Given the description of an element on the screen output the (x, y) to click on. 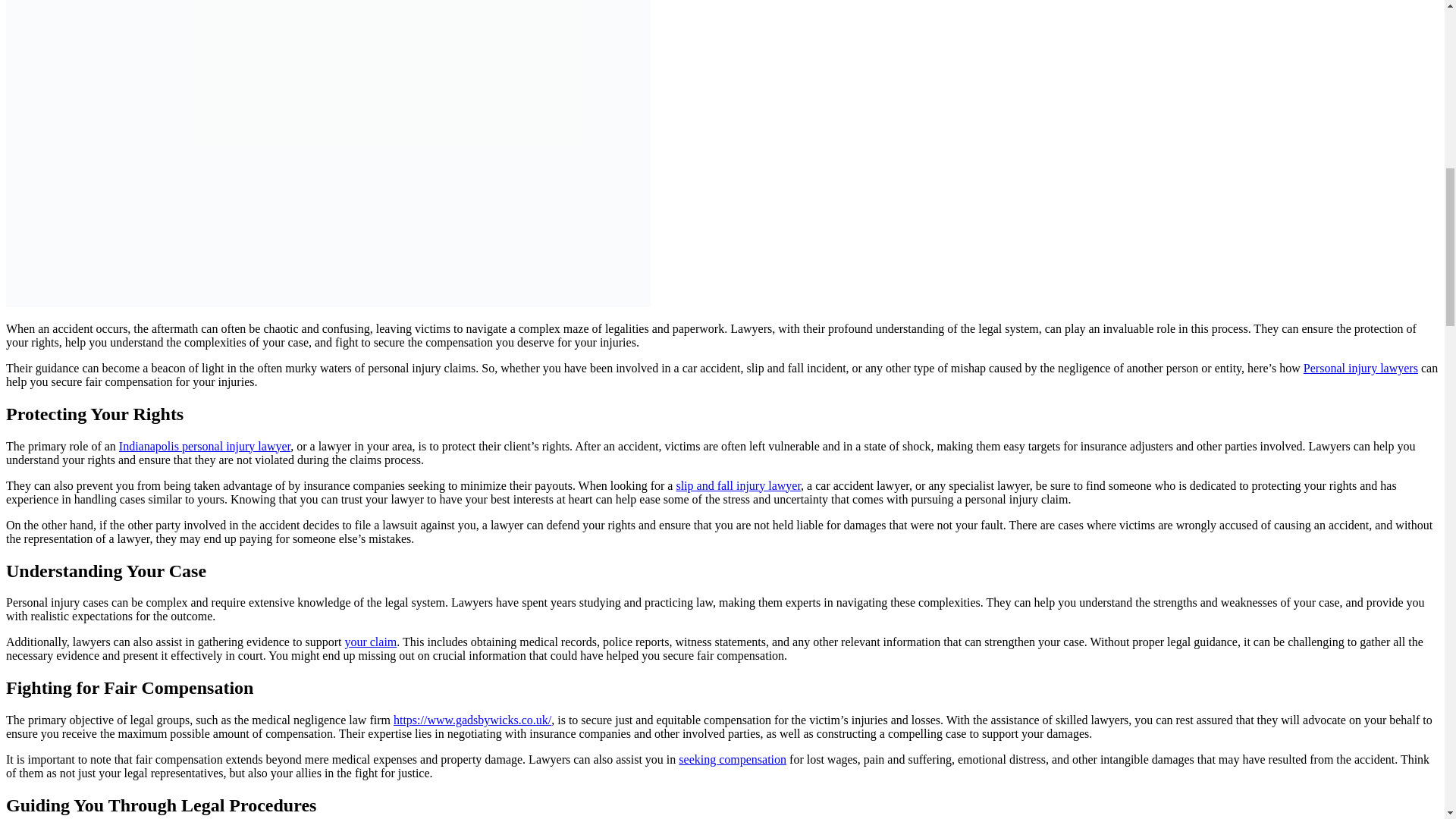
your claim (369, 641)
slip and fall injury lawyer (737, 485)
Indianapolis personal injury lawyer (204, 445)
seeking compensation (732, 758)
Personal injury lawyers (1360, 367)
